Given the description of an element on the screen output the (x, y) to click on. 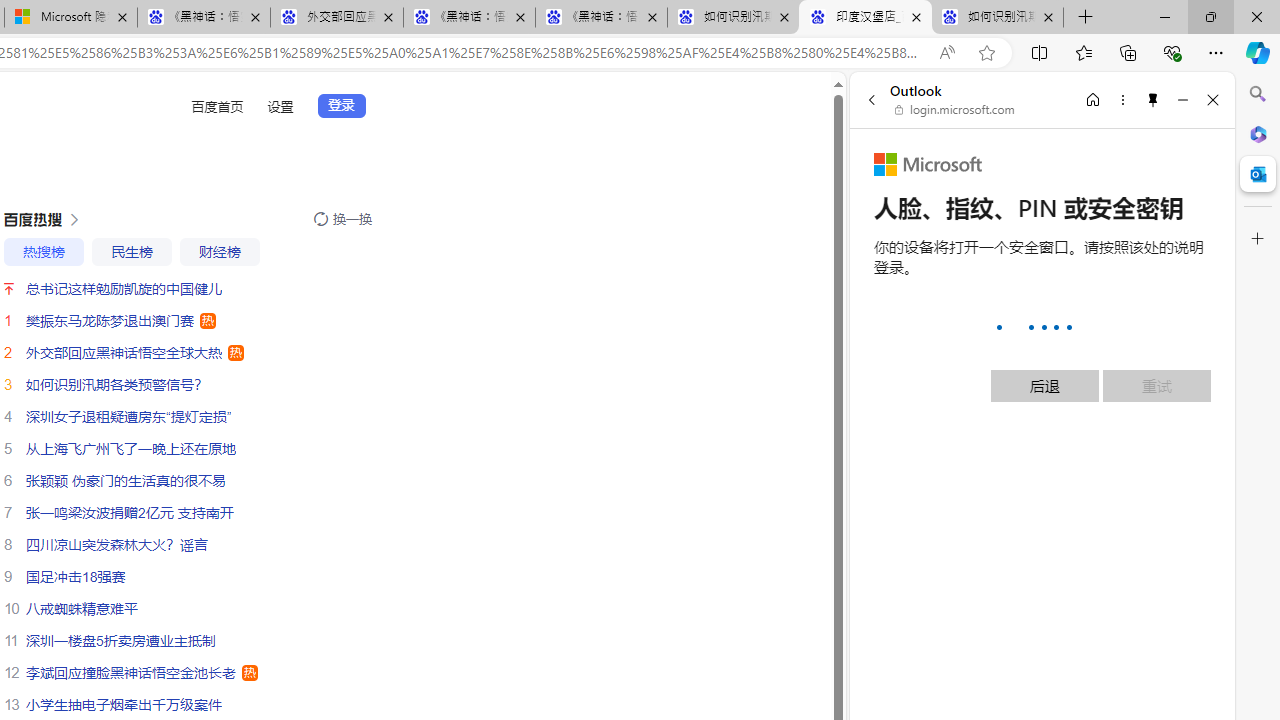
login.microsoft.com (955, 110)
Microsoft (927, 164)
